Given the description of an element on the screen output the (x, y) to click on. 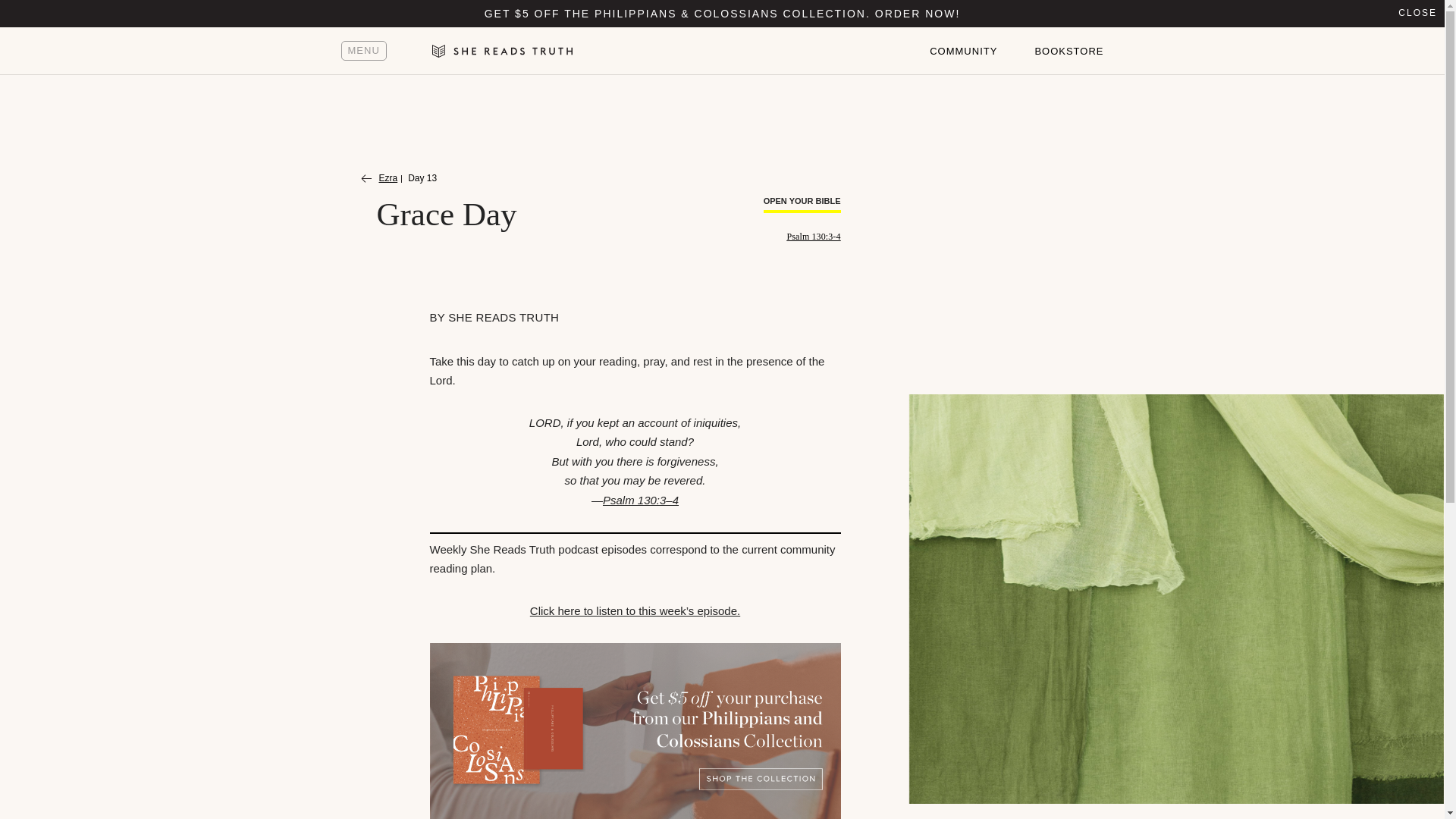
SHE READS TRUTH (503, 317)
BOOKSTORE (1068, 51)
Psalm 130:3-4 (814, 235)
Ezra (379, 178)
CLOSE (1417, 13)
COMMUNITY (963, 51)
MENU (363, 50)
